Given the description of an element on the screen output the (x, y) to click on. 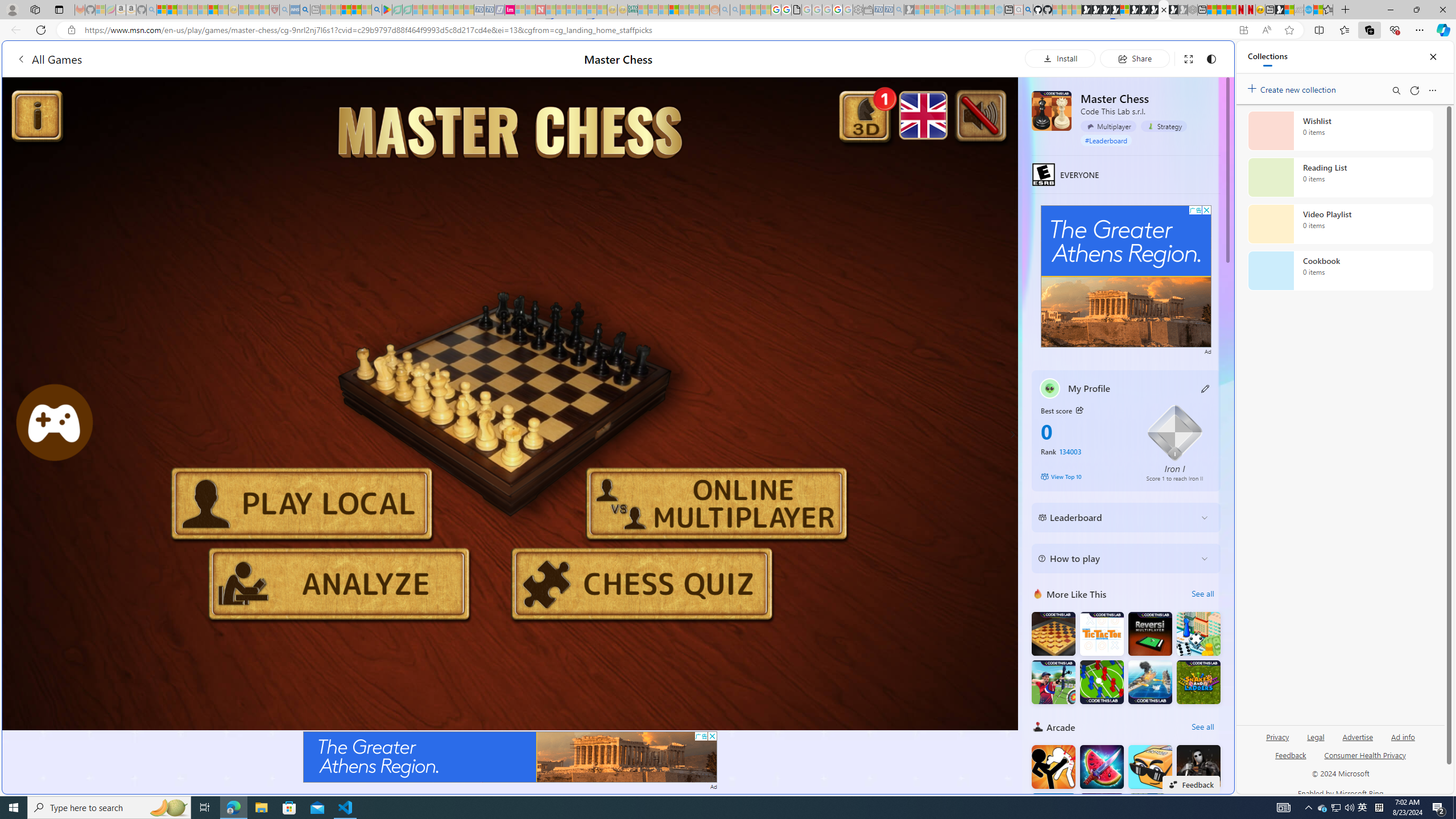
Wallet - Sleeping (867, 9)
More Like This (1037, 593)
Master Chess (1051, 110)
Reversi (1149, 633)
Foosball (1101, 681)
Fruit Chopper (1101, 766)
Multiplayer (1107, 125)
Video Playlist collection, 0 items (1339, 223)
